Given the description of an element on the screen output the (x, y) to click on. 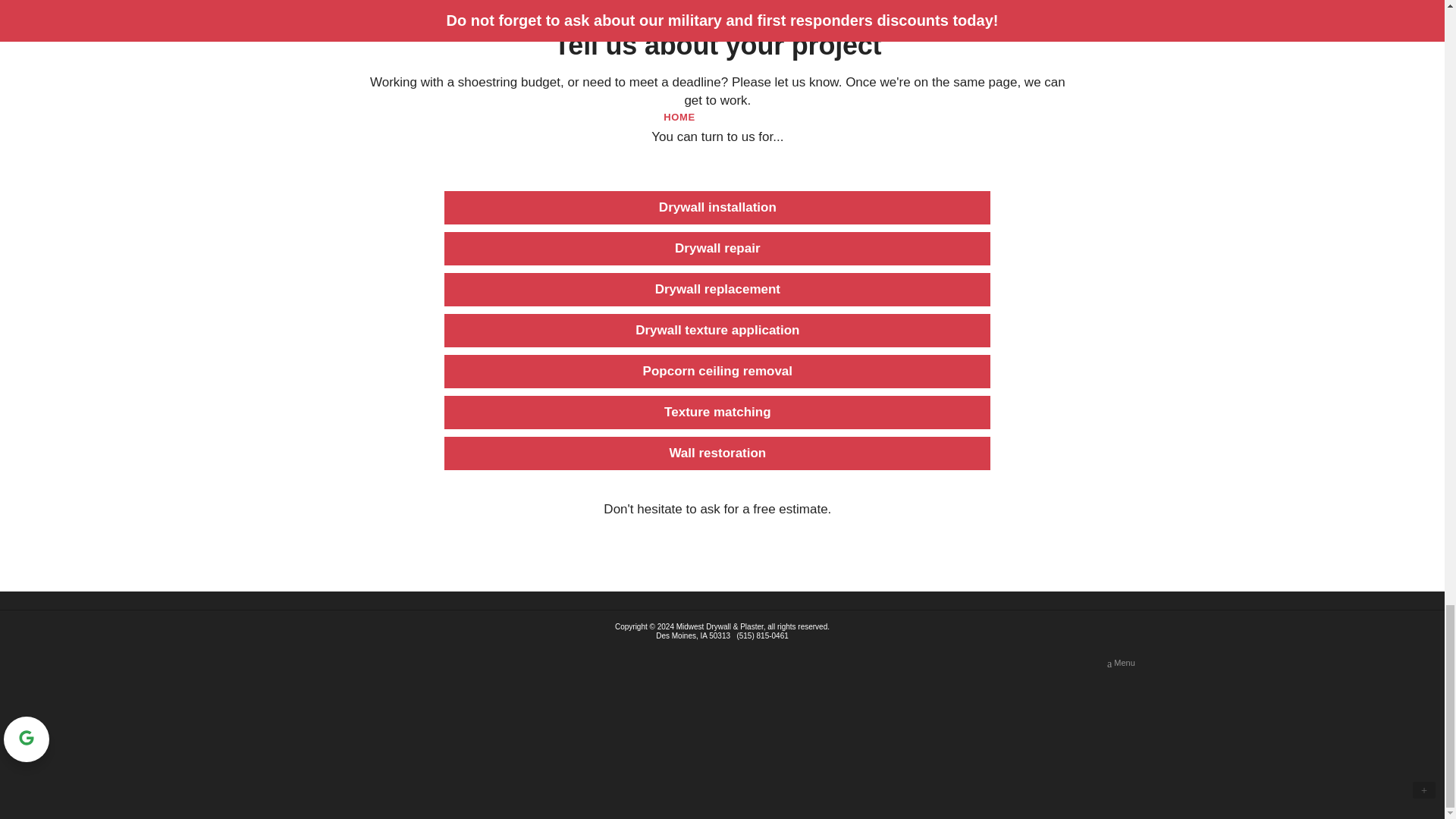
Menu (1120, 663)
Open Menu (1120, 663)
